Given the description of an element on the screen output the (x, y) to click on. 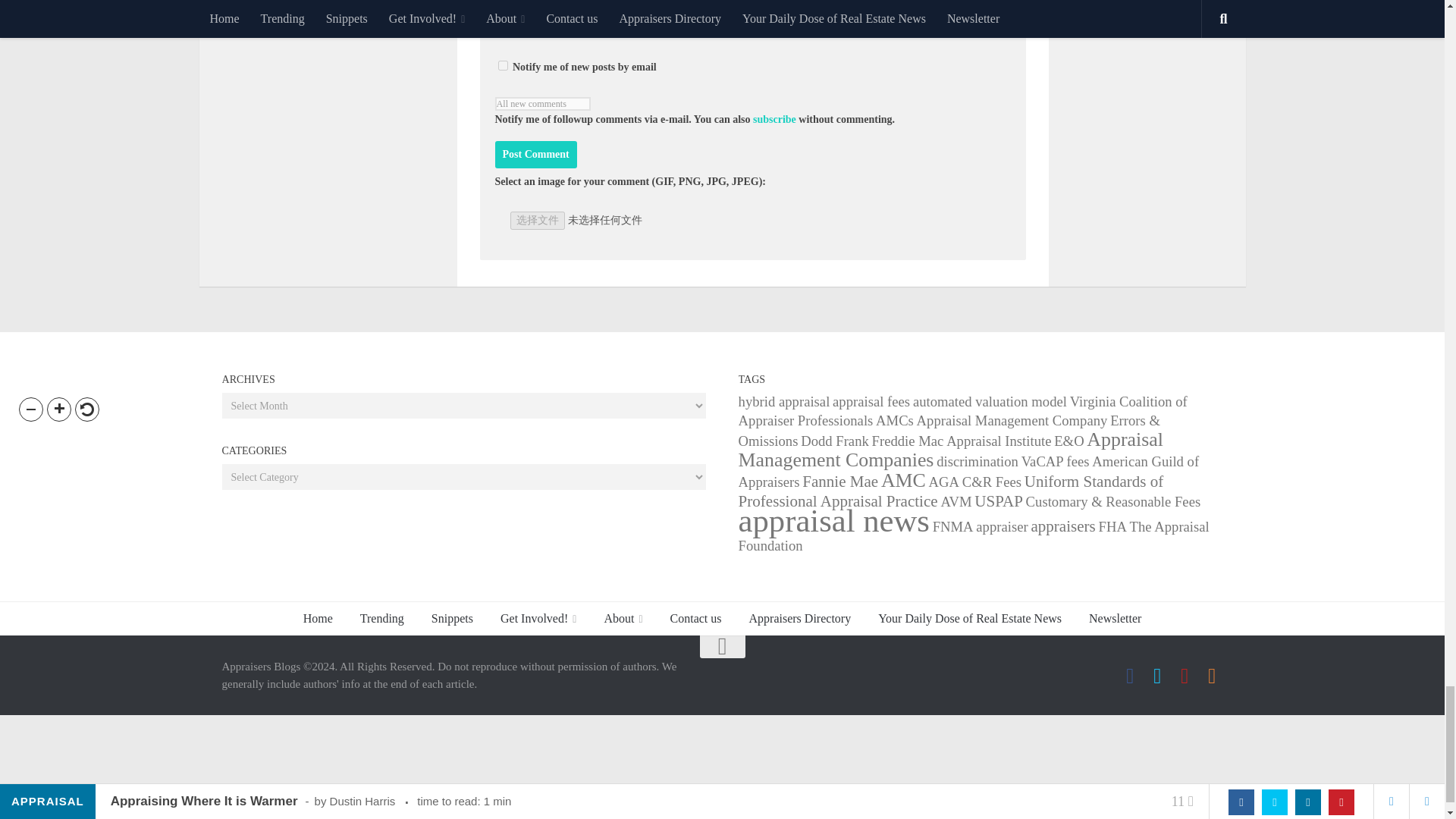
yes (501, 23)
1 (501, 65)
Post Comment (535, 154)
